Given the description of an element on the screen output the (x, y) to click on. 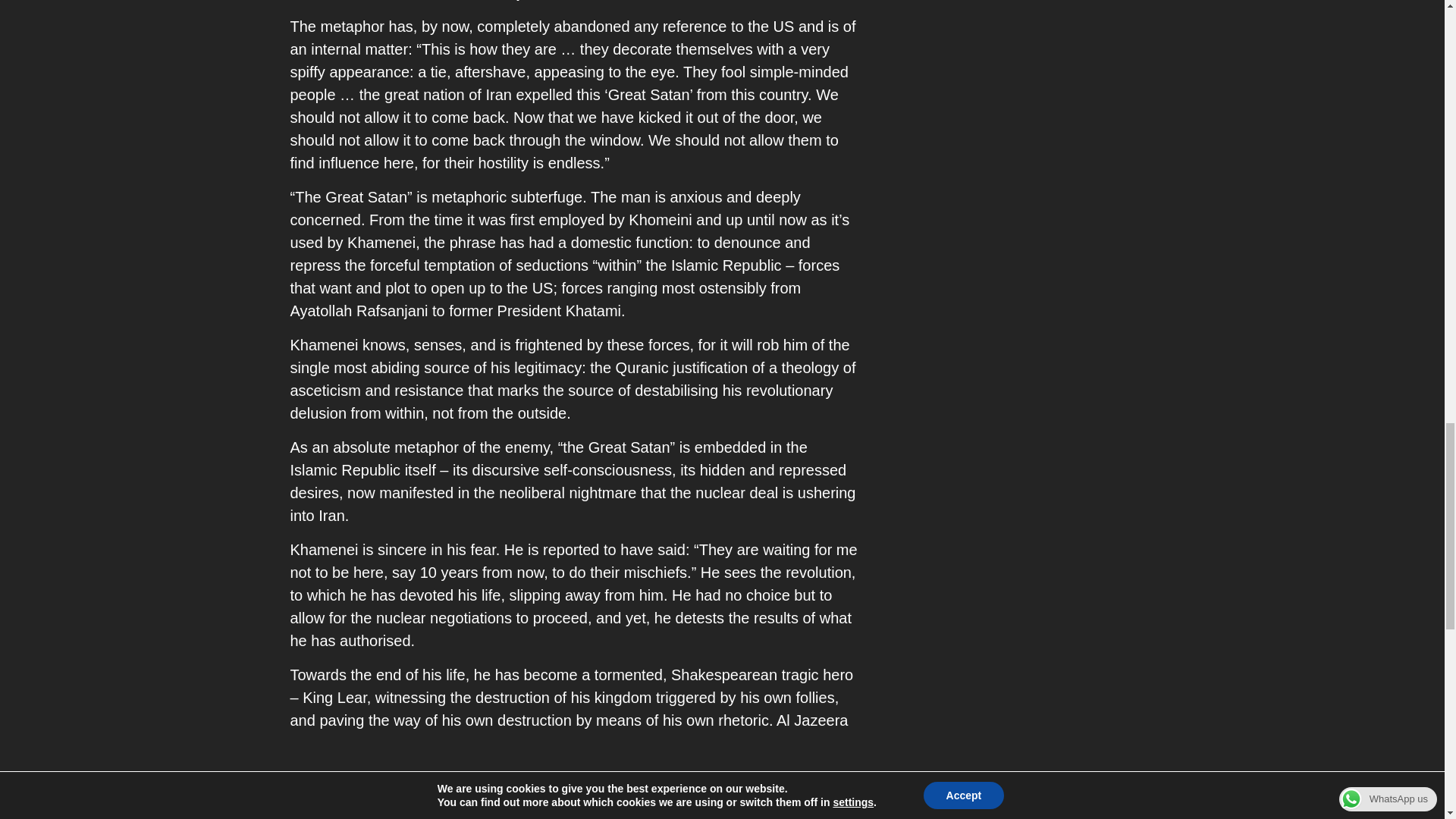
Email (542, 805)
Whatsapp (373, 805)
Facebook (317, 805)
Linkedin (486, 805)
Twitter (430, 805)
